Given the description of an element on the screen output the (x, y) to click on. 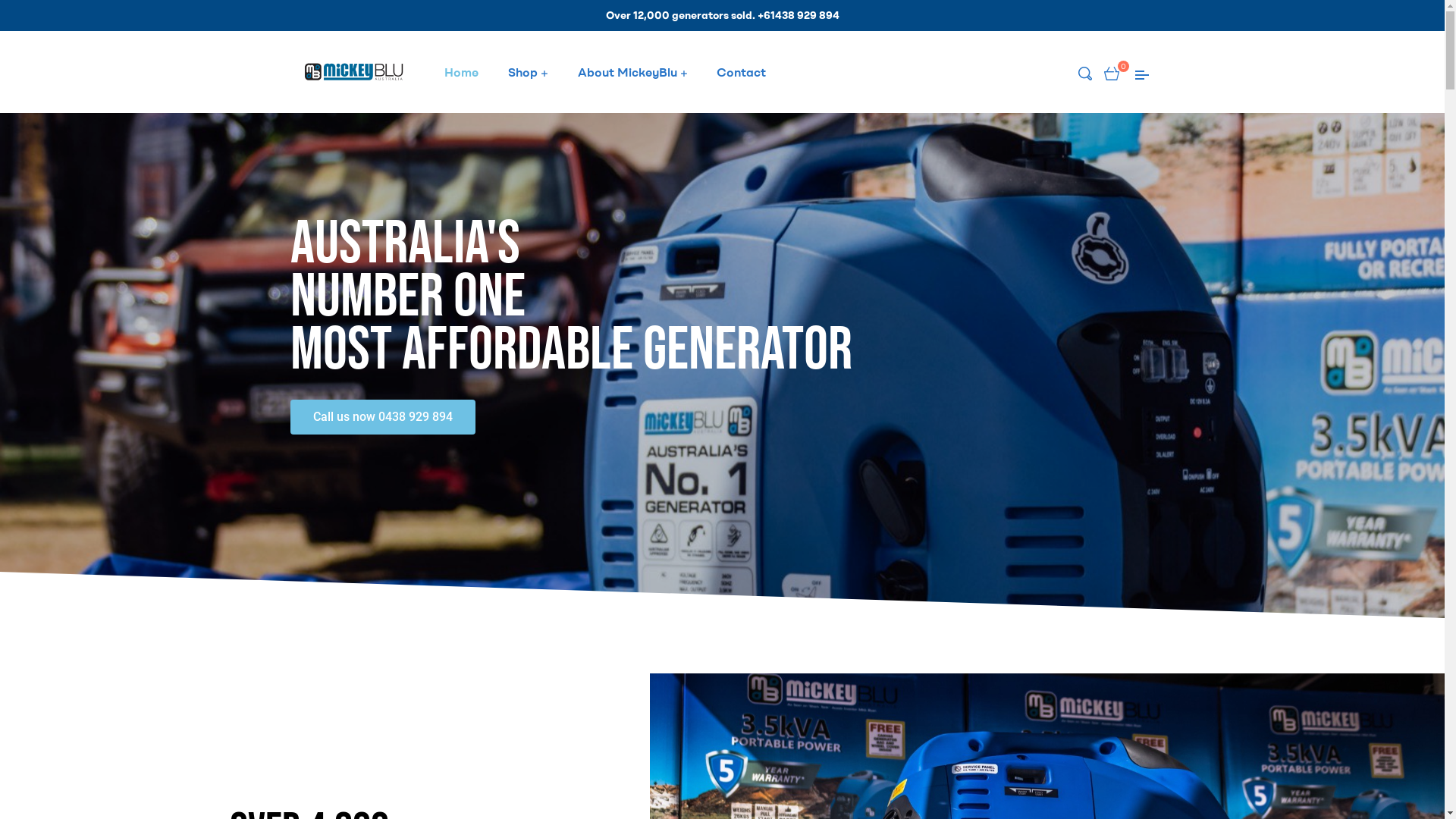
Call us now 0438 929 894 Element type: text (381, 415)
About MickeyBlu Element type: text (631, 71)
Home Element type: text (461, 71)
MickeyBlu Element type: text (299, 217)
Contact Element type: text (740, 71)
Shop Element type: text (528, 71)
Search Element type: text (893, 249)
0 Element type: text (1111, 71)
